Given the description of an element on the screen output the (x, y) to click on. 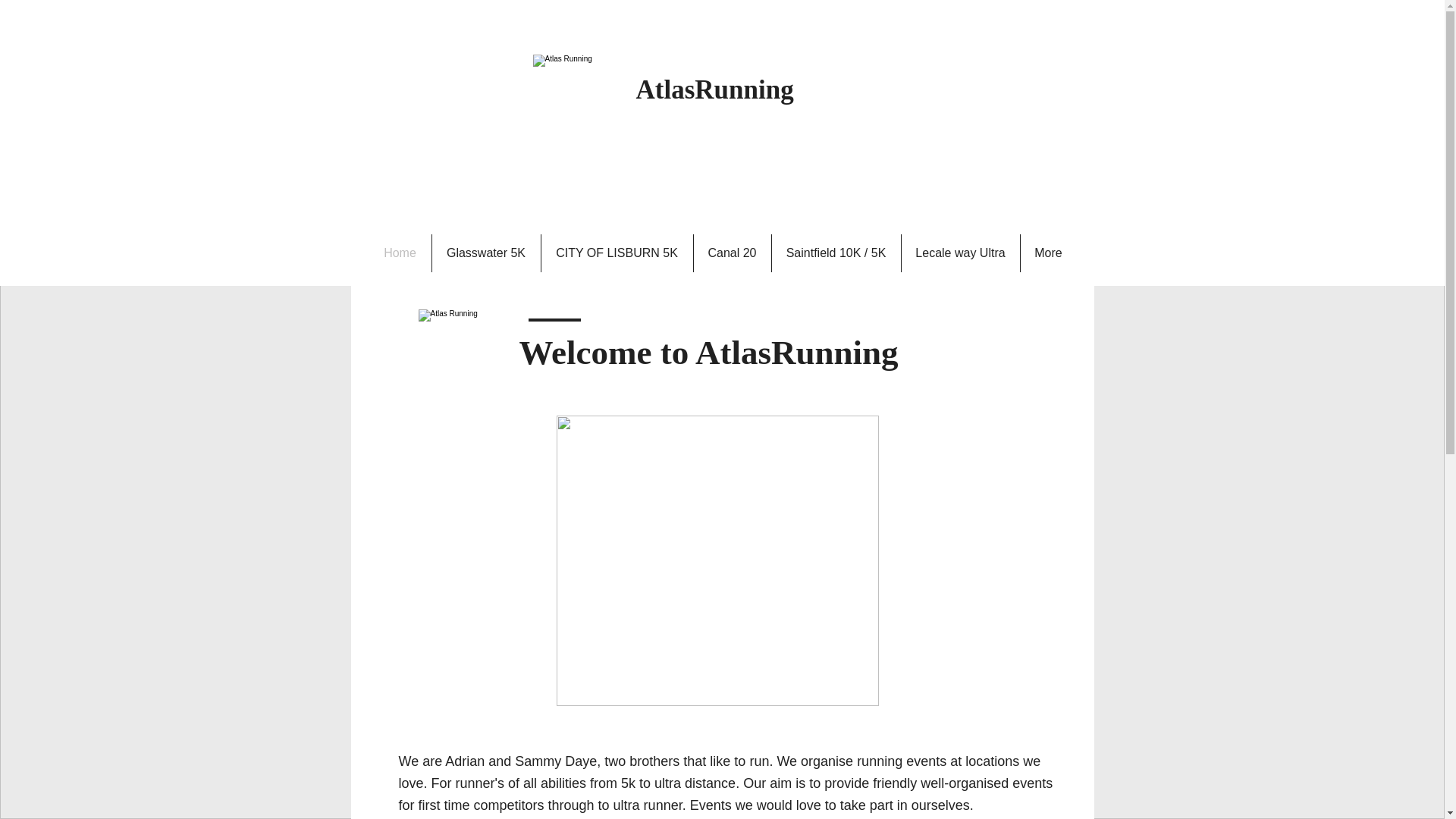
CITY OF LISBURN 5K (617, 252)
Glasswater 5K (486, 252)
AtlasRunning (713, 89)
cover photo.png (717, 560)
Home (399, 252)
Canal 20 (731, 252)
Lecale way Ultra (960, 252)
